Given the description of an element on the screen output the (x, y) to click on. 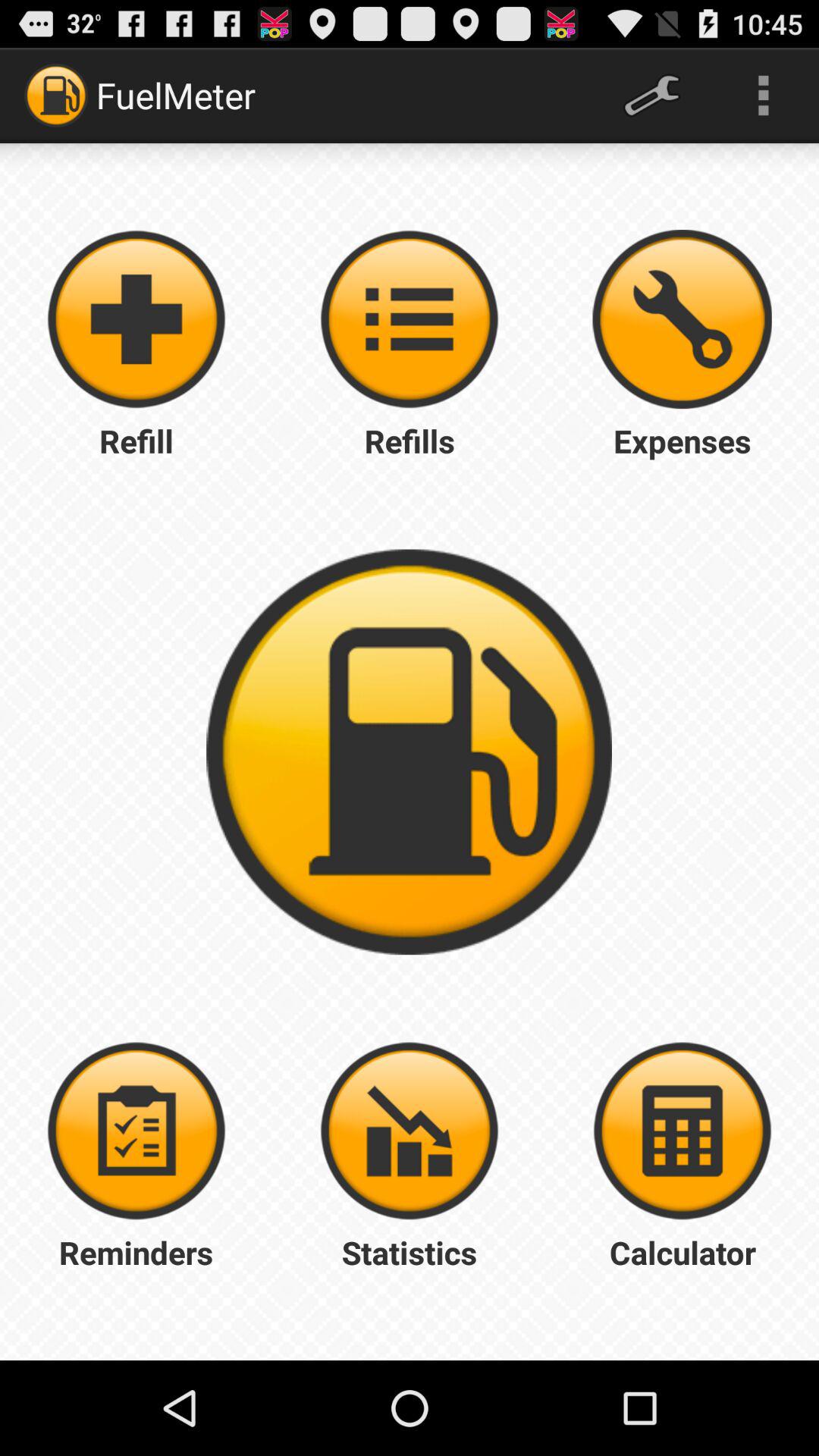
refill option (136, 318)
